Given the description of an element on the screen output the (x, y) to click on. 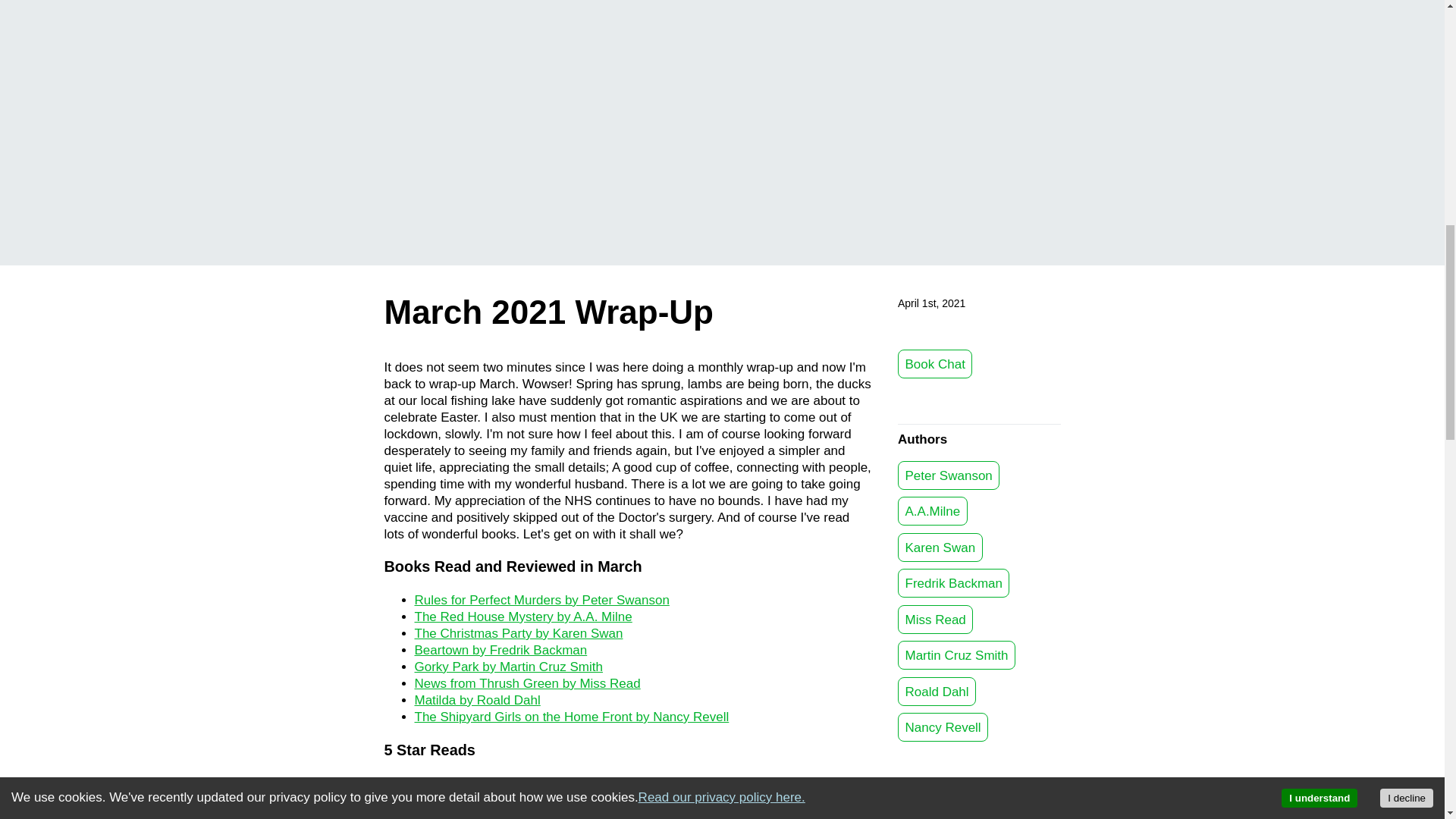
Book Chat (935, 363)
Martin Cruz Smith (956, 654)
Karen Swan (940, 547)
Fredrik Backman (953, 582)
Beartown by Fredrik Backman (499, 649)
The Christmas Party by Karen Swan (518, 633)
Roald Dahl (936, 691)
Peter Swanson (948, 475)
A.A.Milne (933, 510)
Miss Read (935, 619)
Matilda by Roald Dahl (476, 699)
The Shipyard Girls on the Home Front by Nancy Revell (571, 716)
News from Thrush Green by Miss Read (526, 683)
Nancy Revell (943, 727)
The Red House Mystery by A.A. Milne (522, 616)
